Given the description of an element on the screen output the (x, y) to click on. 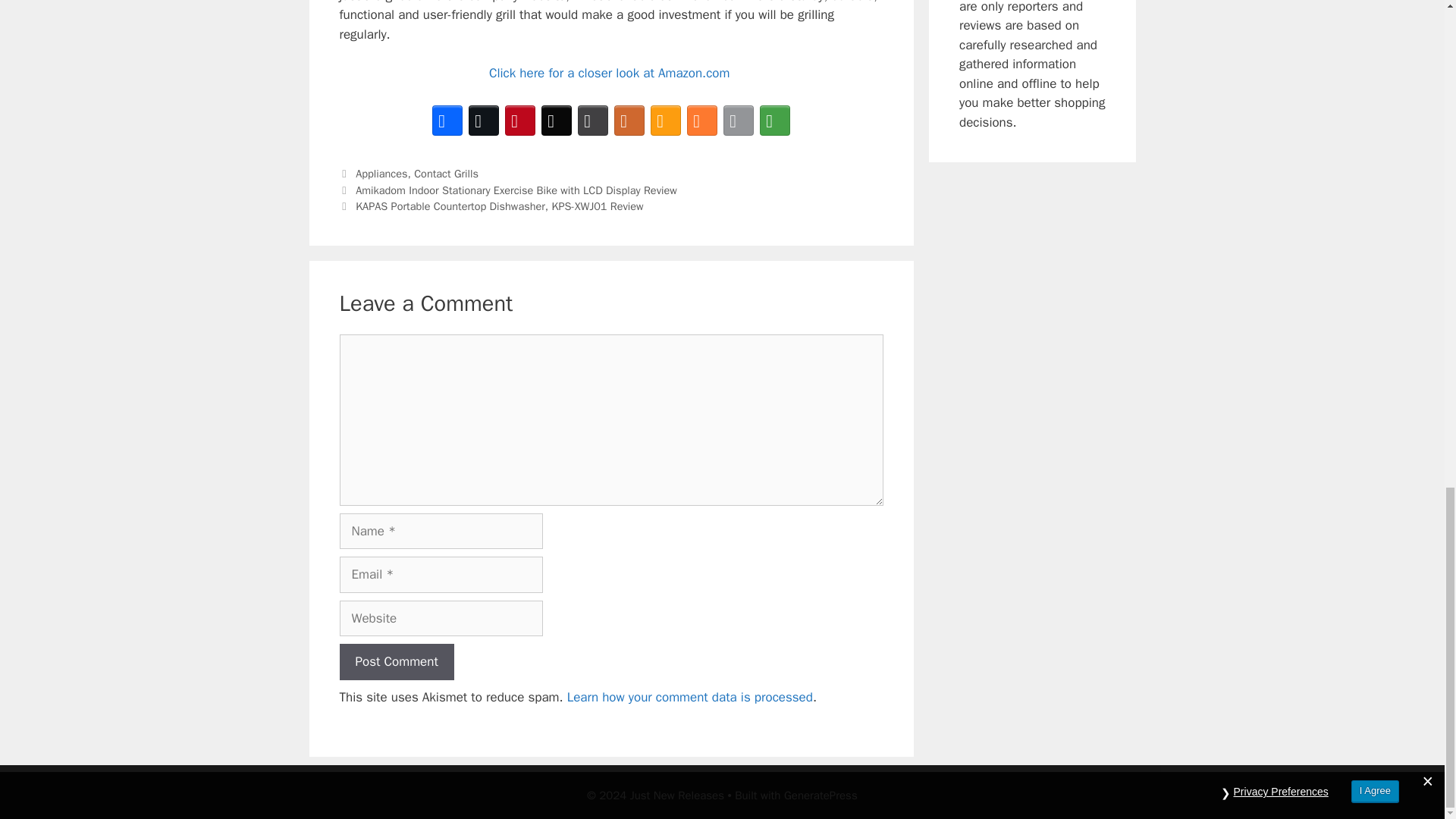
Instapaper (593, 120)
Stumpedia (665, 120)
Email This (738, 120)
Plurk (629, 120)
Post Comment (396, 661)
Facebook (447, 120)
Pinterest (520, 120)
Blogger Post (702, 120)
More Options (775, 120)
Digg (556, 120)
